Given the description of an element on the screen output the (x, y) to click on. 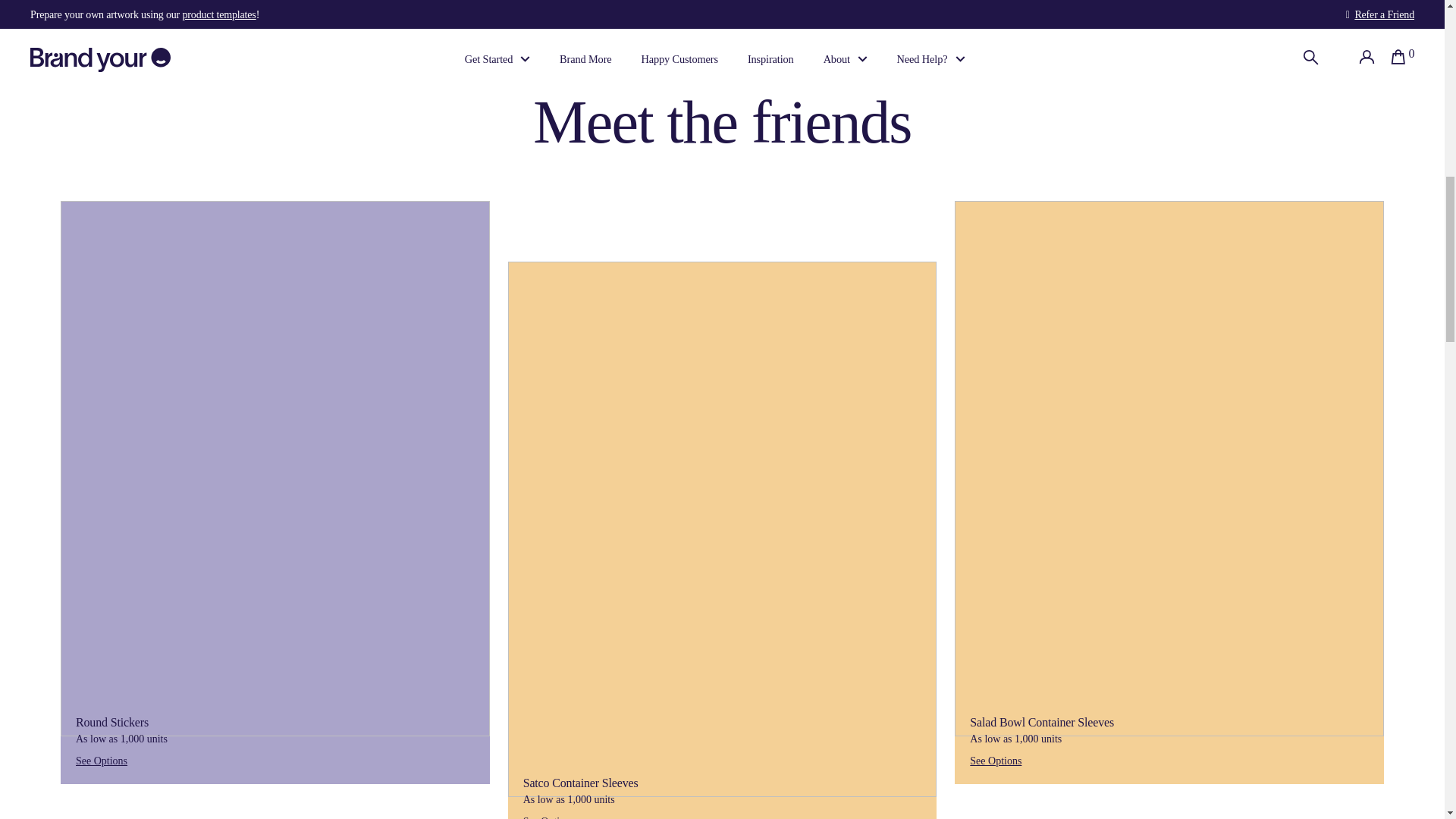
View options for Round Stickers (175, 762)
View options for Satco Container Sleeves (821, 812)
View options for Salad Bowl Container Sleeves (1069, 762)
View options for Satco Container Sleeves (622, 812)
View options for Salad Bowl Container Sleeves (1268, 758)
View options for Round Stickers (374, 758)
